Given the description of an element on the screen output the (x, y) to click on. 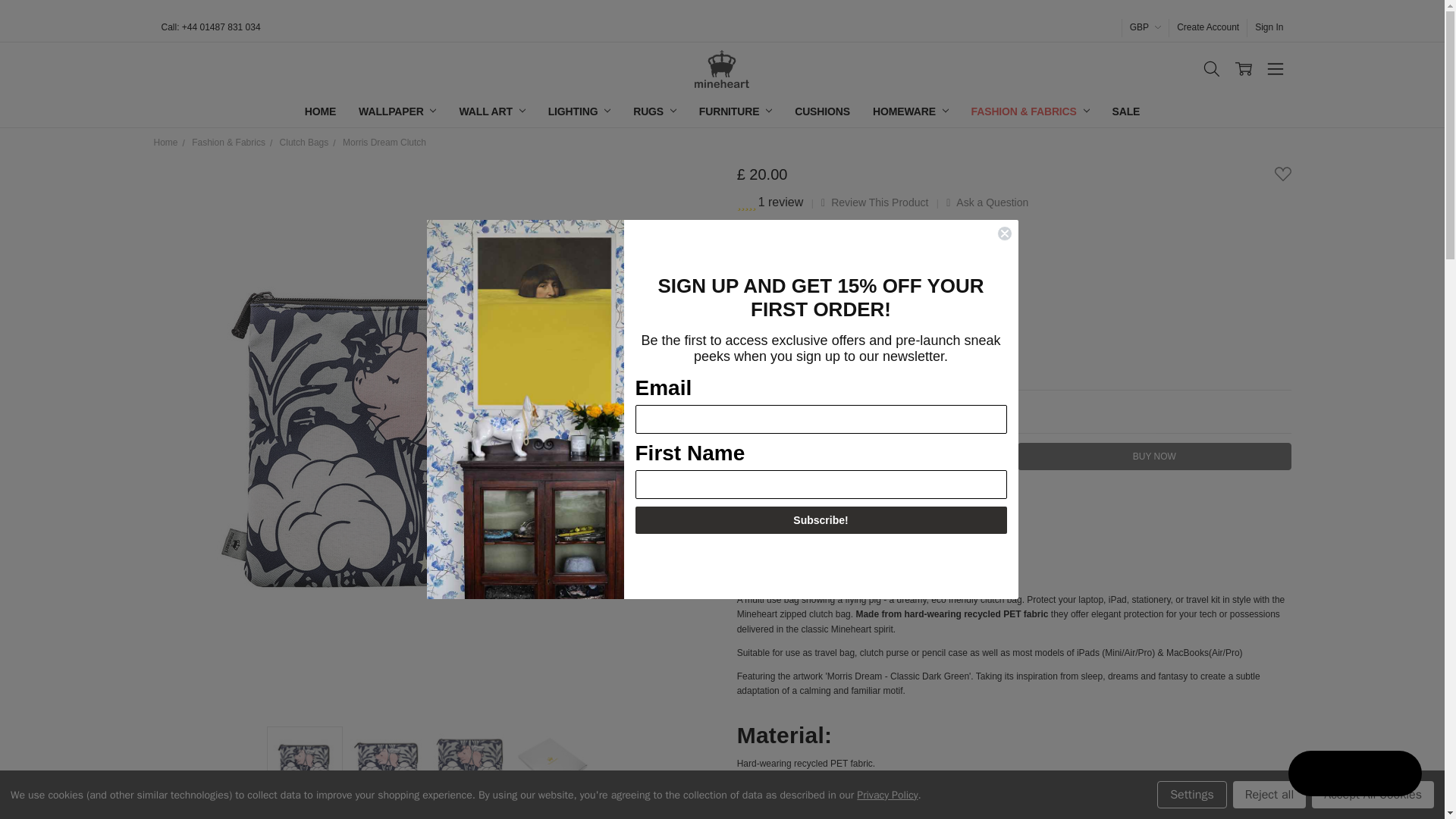
Young and Battaglia Morris Dream Clutch (470, 764)
Young and Battaglia Morris Dream Clutch (304, 764)
Twitter (824, 500)
Mineheart (721, 68)
Young and Battaglia Morris Dream Clutch (387, 764)
Buy Now (1153, 456)
WALLPAPER (396, 111)
Pinterest (898, 500)
Show All (741, 111)
Sign In (1268, 27)
GBP (1145, 27)
1 (829, 411)
Linkedin (862, 500)
